Given the description of an element on the screen output the (x, y) to click on. 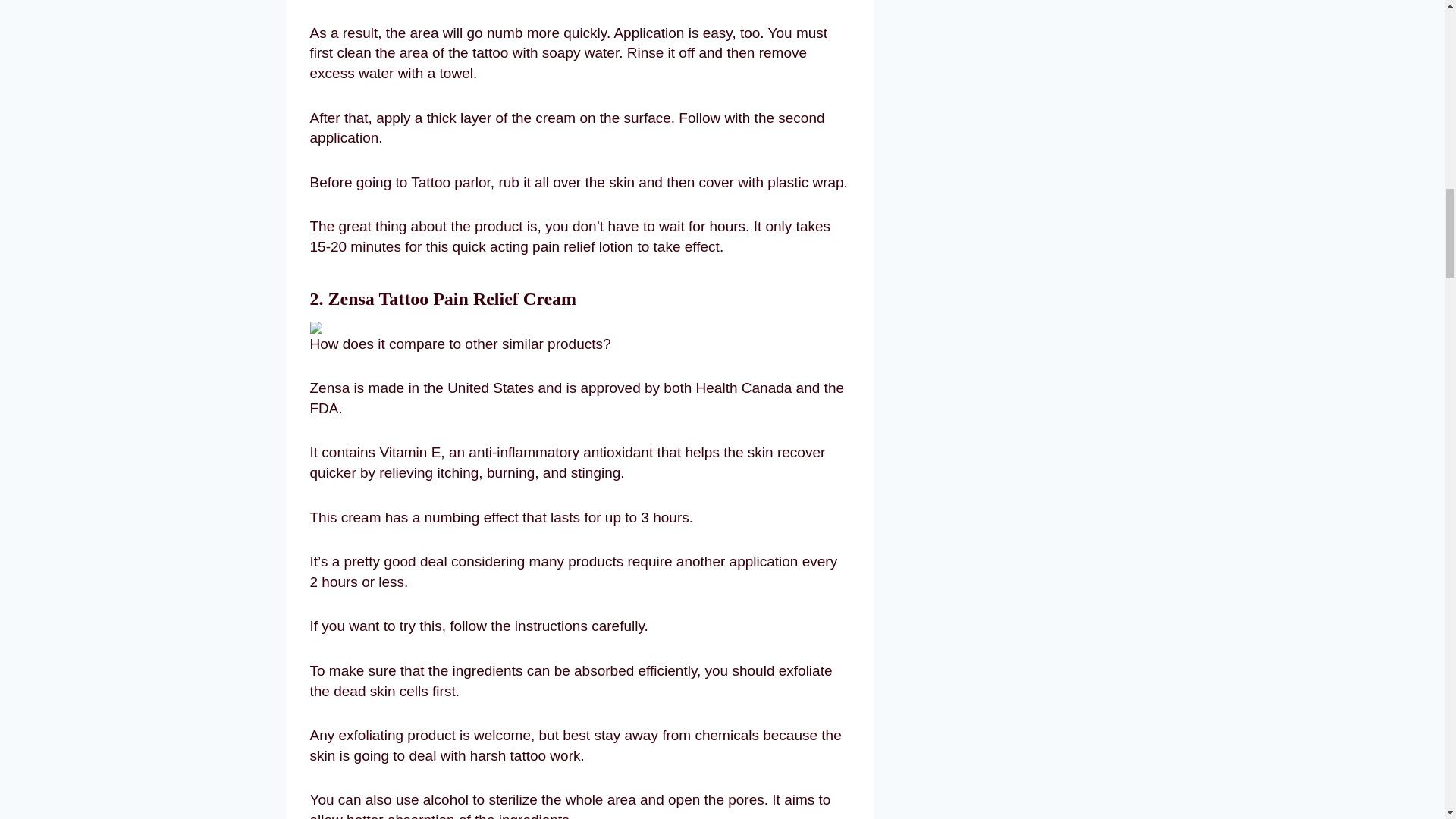
Zensa Tattoo Pain Relief Cream (451, 298)
